Given the description of an element on the screen output the (x, y) to click on. 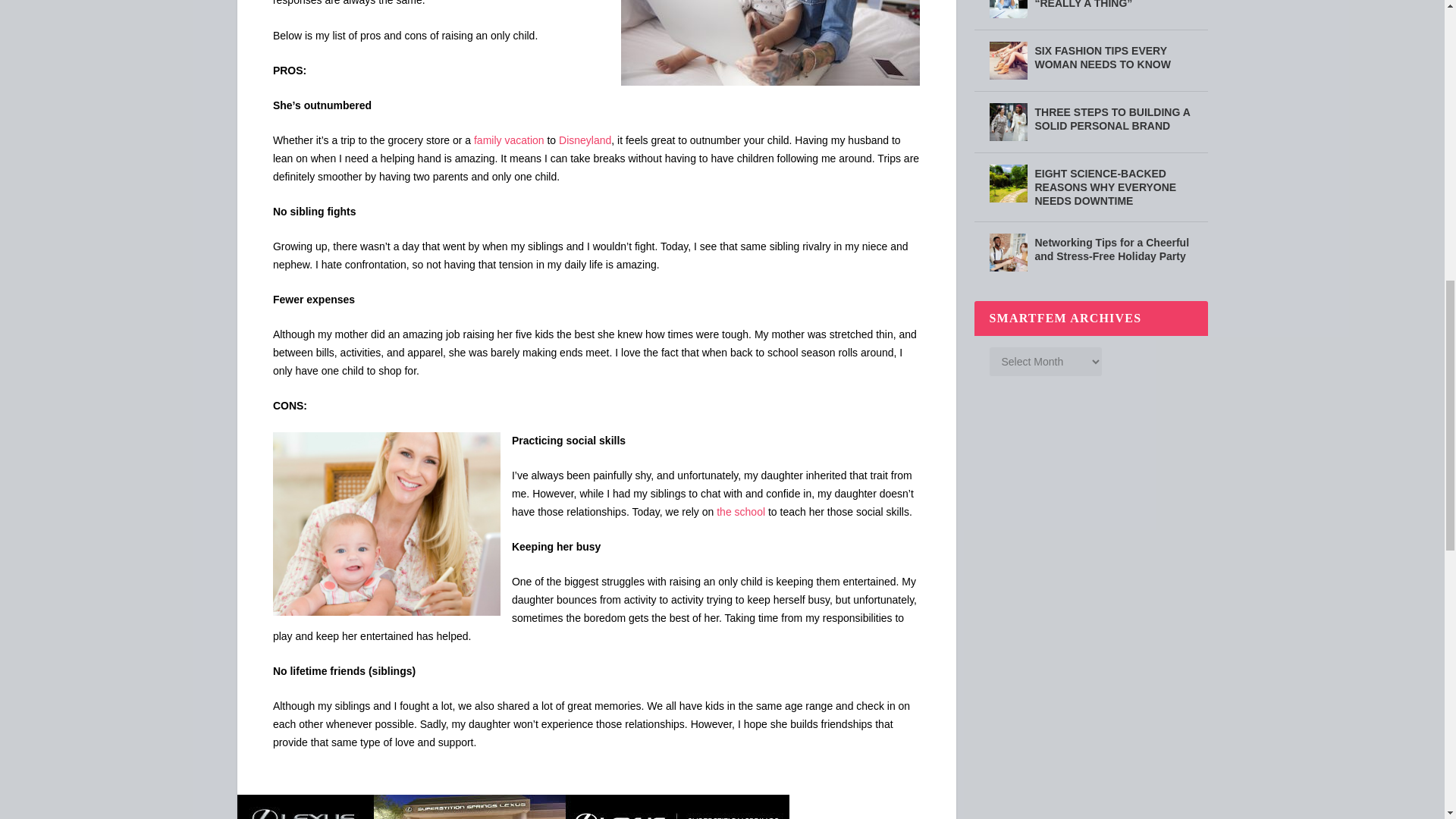
Disneyland (585, 140)
family vacation (509, 140)
SS Lexus 728 (512, 806)
the school (740, 511)
